Given the description of an element on the screen output the (x, y) to click on. 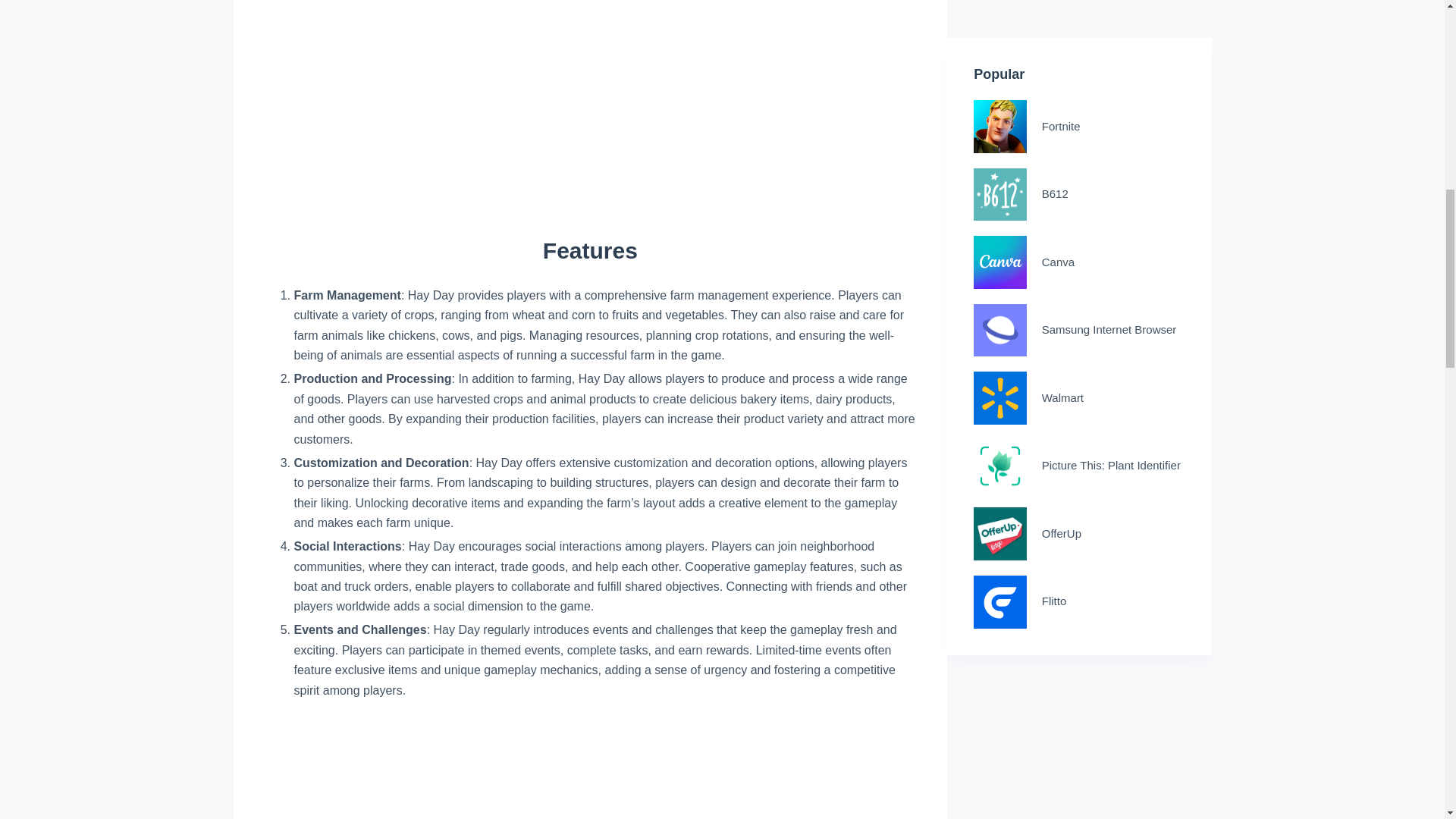
Flitto (1079, 30)
